Given the description of an element on the screen output the (x, y) to click on. 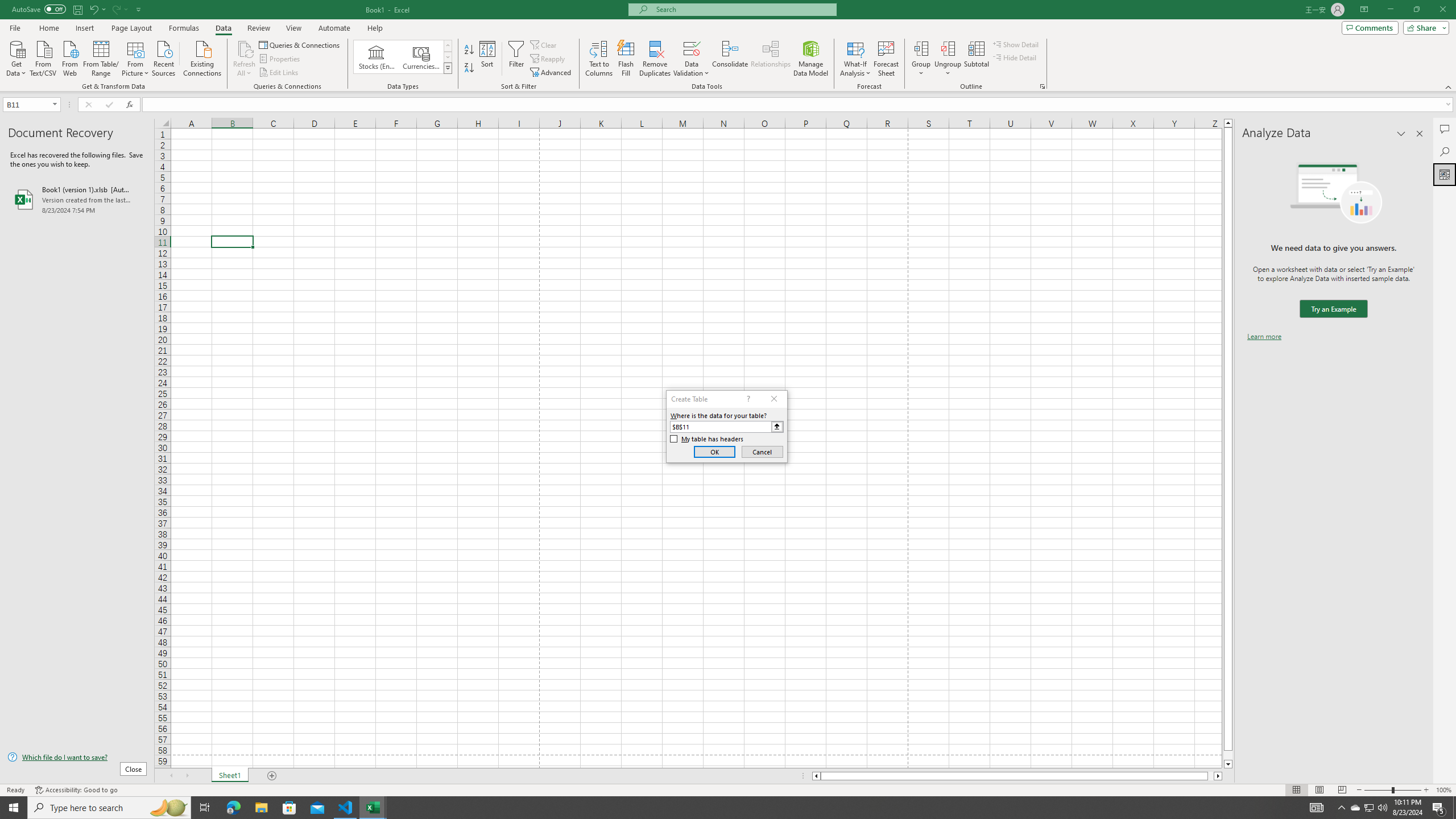
What-If Analysis (855, 58)
